Given the description of an element on the screen output the (x, y) to click on. 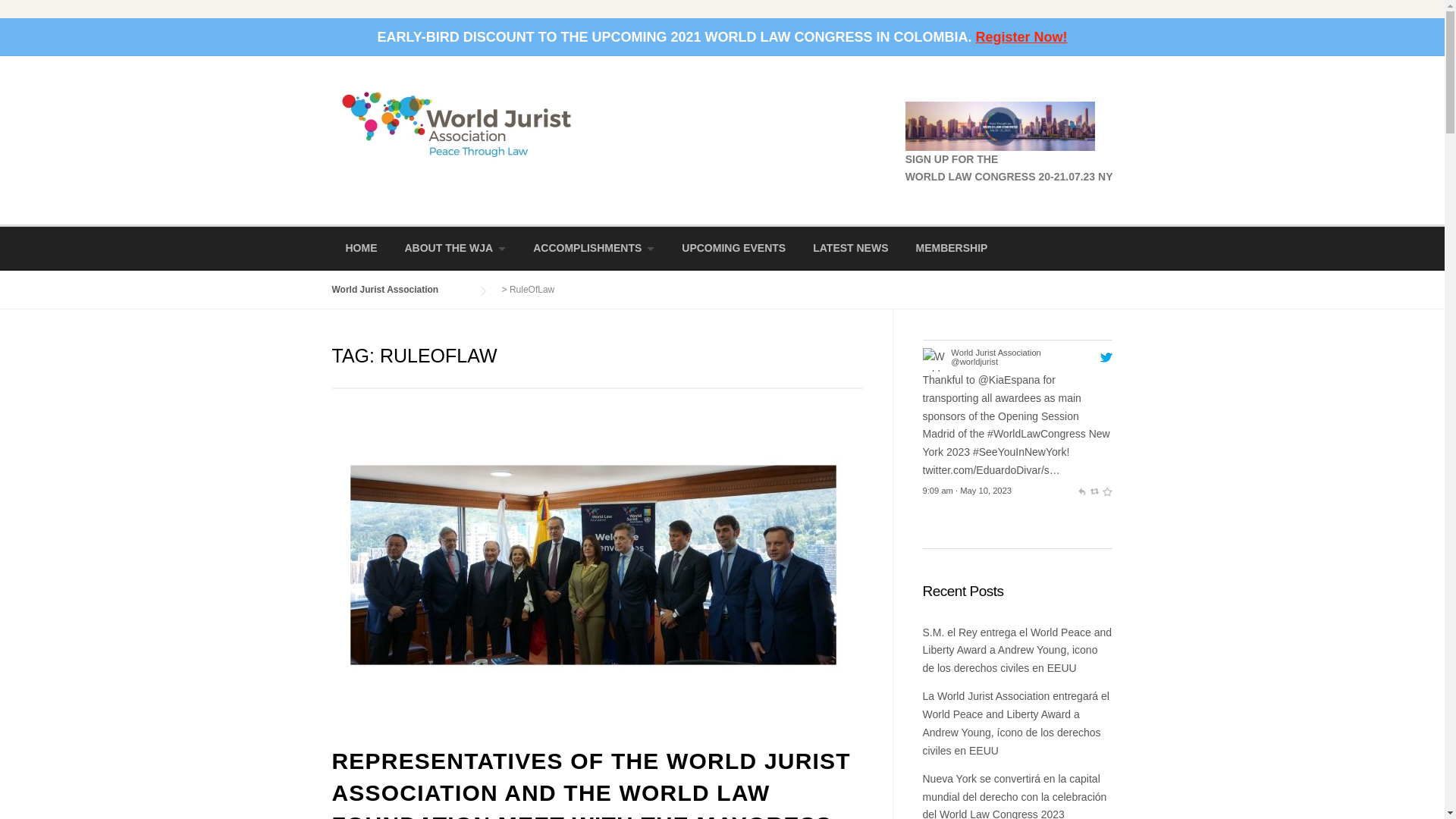
Go to World Jurist Association. (399, 289)
Skip to content (34, 65)
World Jurist Association (995, 352)
retweet (1094, 490)
World Jurist Association (455, 122)
ACCOMPLISHMENTS (593, 248)
World Jurist Association (973, 361)
favorite (1107, 490)
HOME (361, 248)
UPCOMING EVENTS (733, 248)
MEMBERSHIP (951, 248)
reply (1081, 490)
LATEST NEWS (850, 248)
ABOUT THE WJA (455, 248)
